Given the description of an element on the screen output the (x, y) to click on. 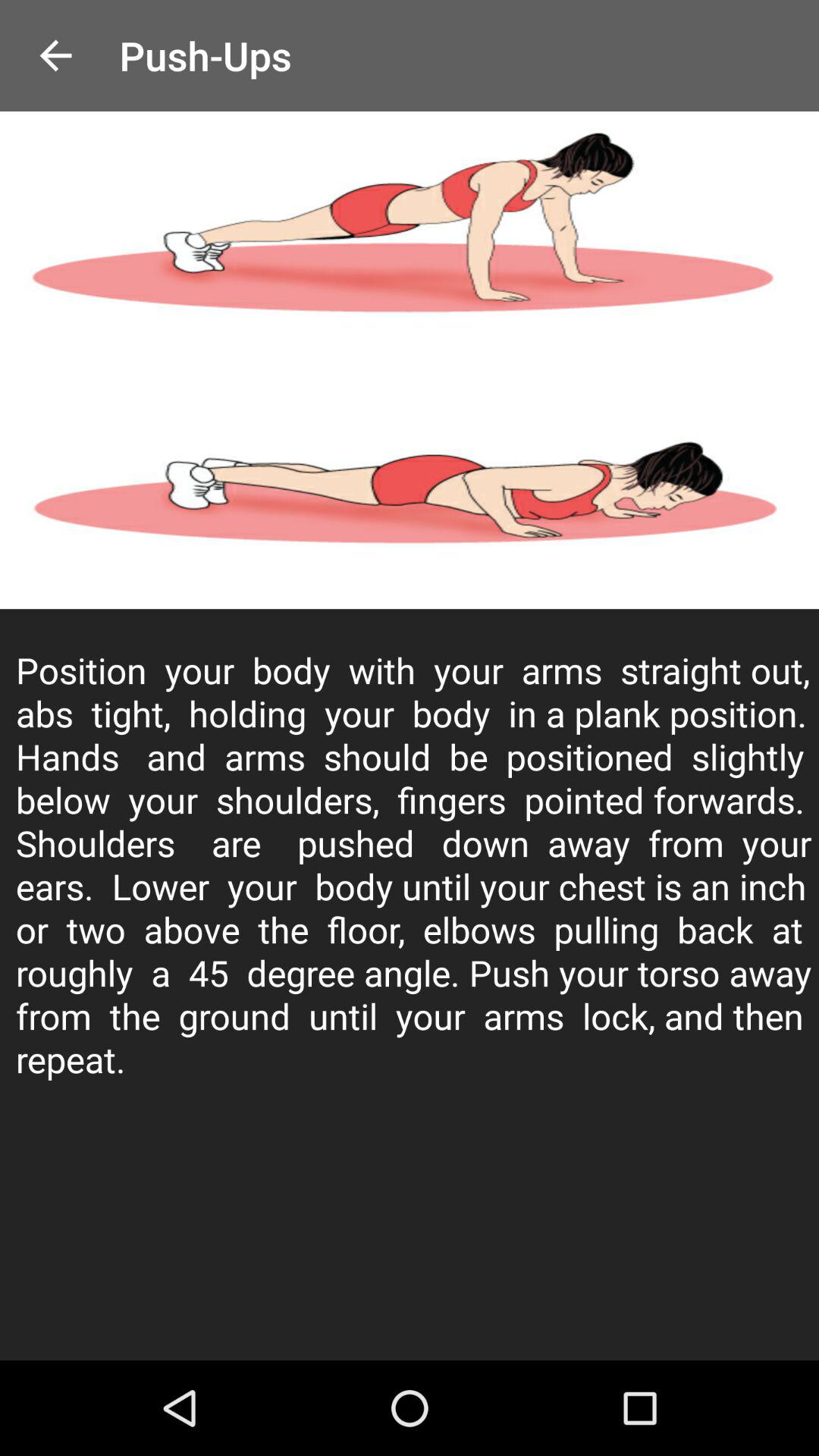
turn on app next to push-ups app (55, 55)
